Given the description of an element on the screen output the (x, y) to click on. 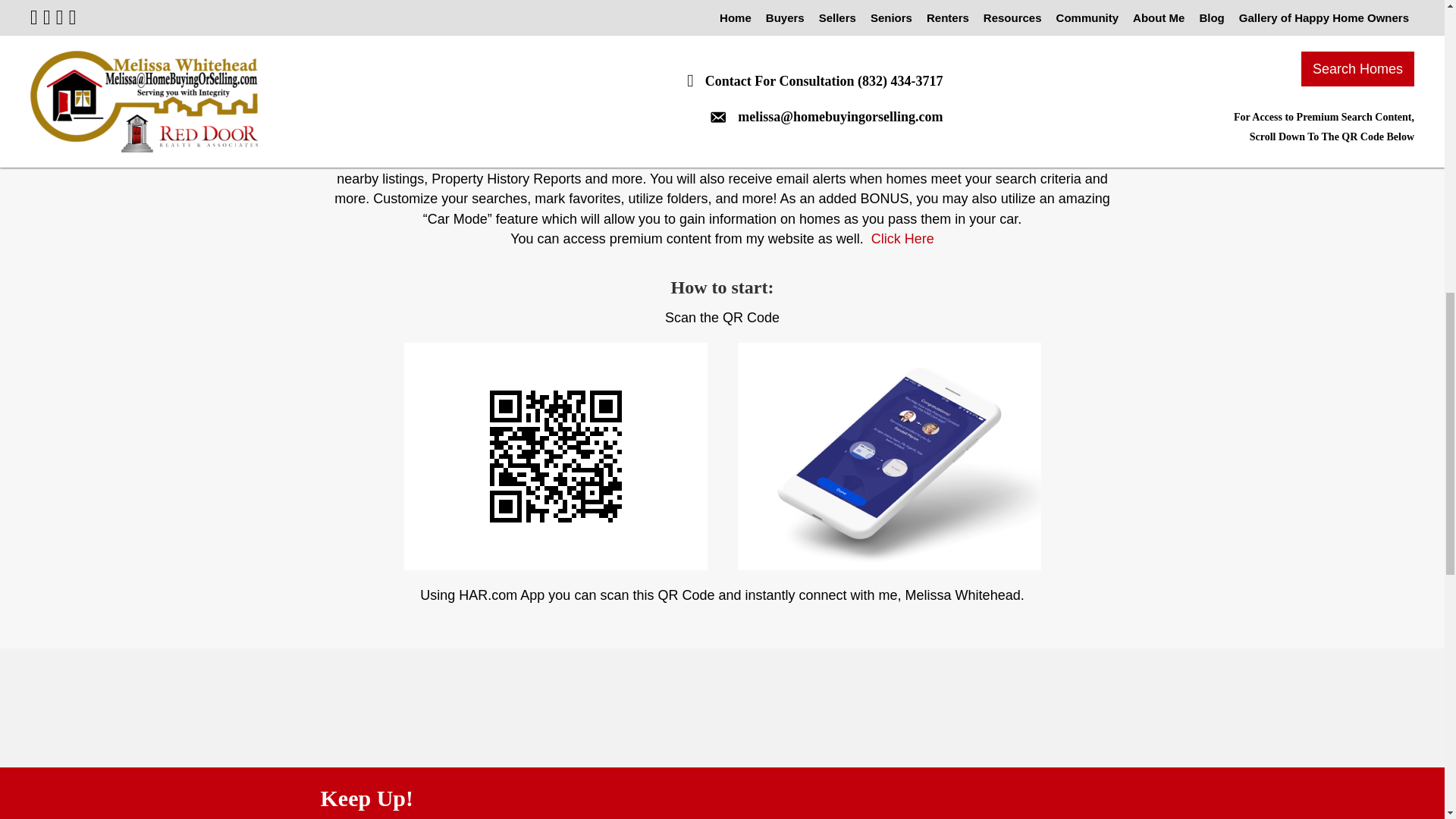
Click Here (902, 238)
